Given the description of an element on the screen output the (x, y) to click on. 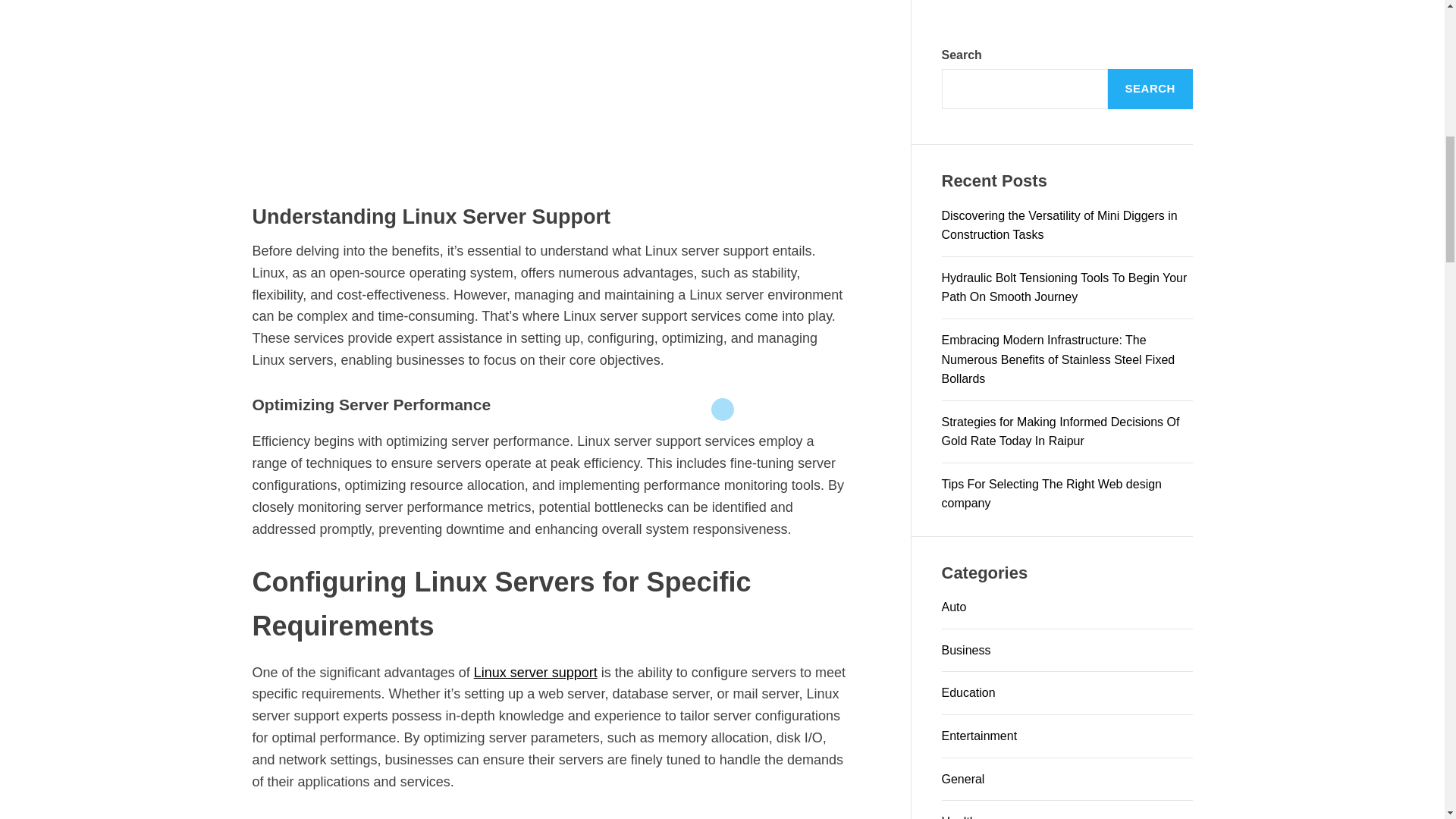
Linux server support (535, 672)
